Given the description of an element on the screen output the (x, y) to click on. 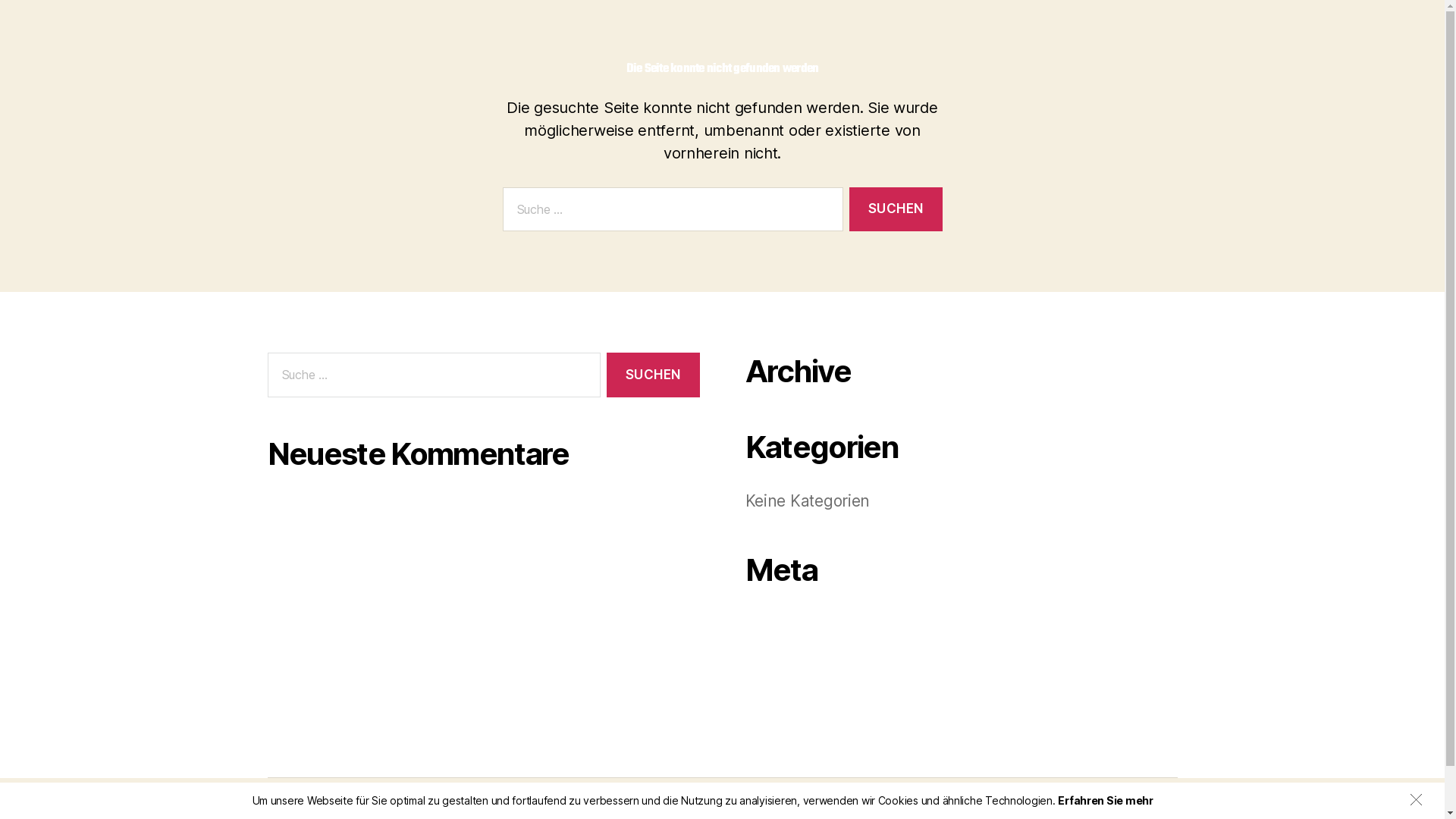
Suchen Element type: text (652, 374)
Kommentare-Feed Element type: text (814, 675)
WordPress.org Element type: text (801, 701)
Erfahren Sie mehr Element type: text (1104, 799)
Suchen Element type: text (895, 208)
Anmelden Element type: text (783, 623)
